Given the description of an element on the screen output the (x, y) to click on. 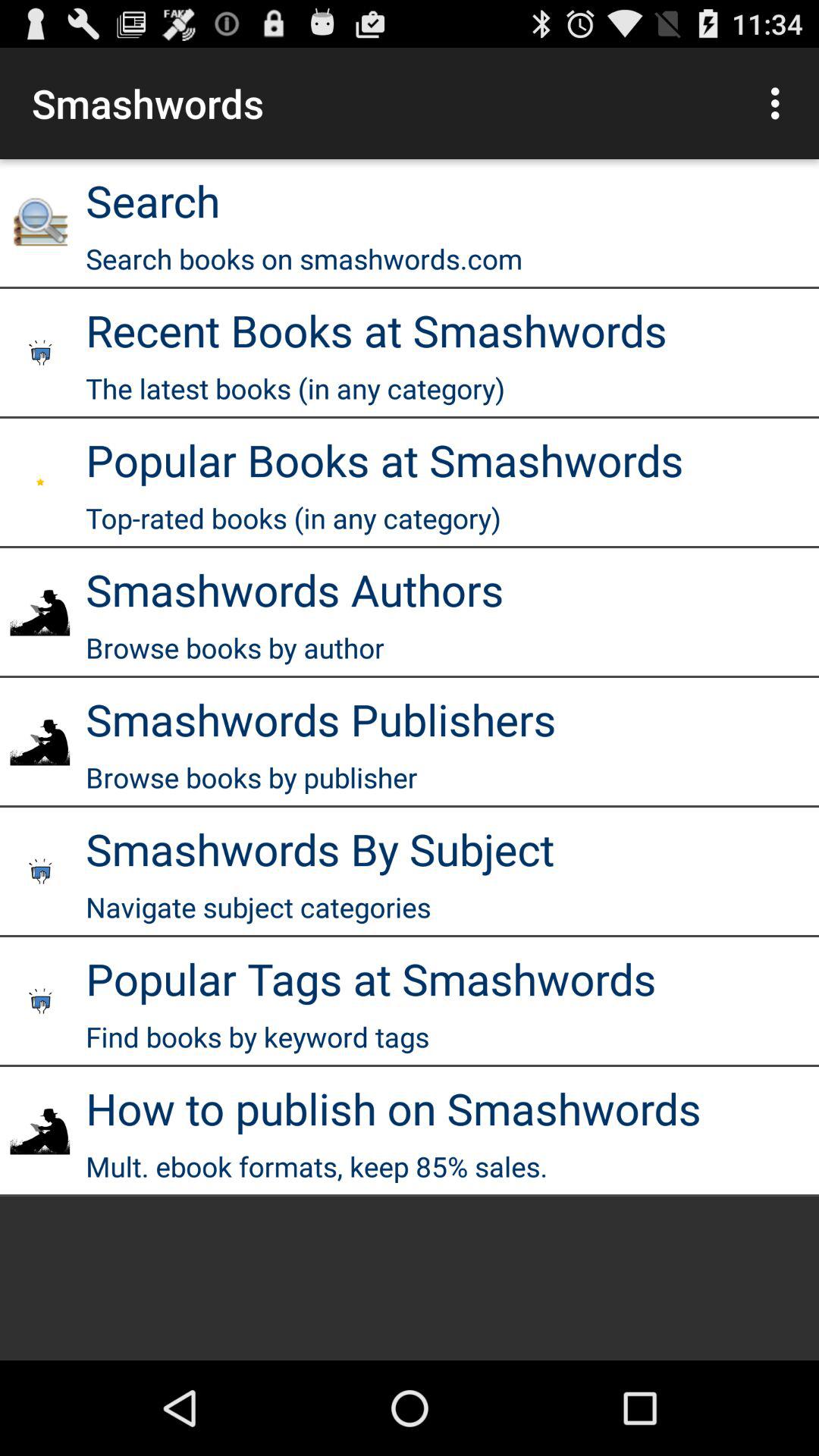
swipe until the smashwords publishers icon (320, 718)
